Given the description of an element on the screen output the (x, y) to click on. 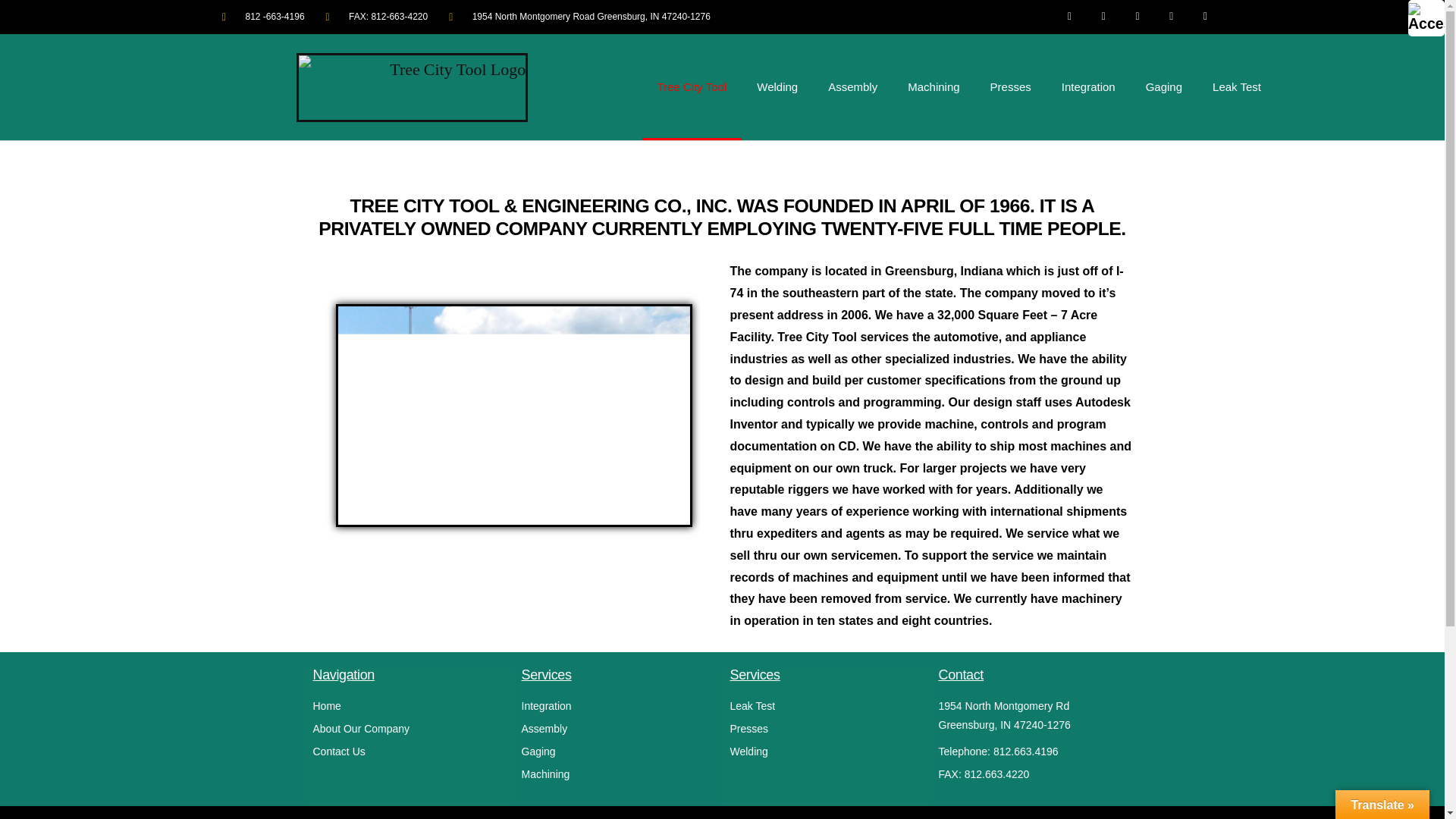
Welding (826, 751)
Presses (826, 728)
About Our Company (409, 728)
Home (409, 705)
Contact Us (409, 751)
Gaging (617, 751)
Assembly (617, 728)
Integration (617, 705)
Tree City Tool (692, 87)
Machining (617, 773)
Leak Test (826, 705)
